Given the description of an element on the screen output the (x, y) to click on. 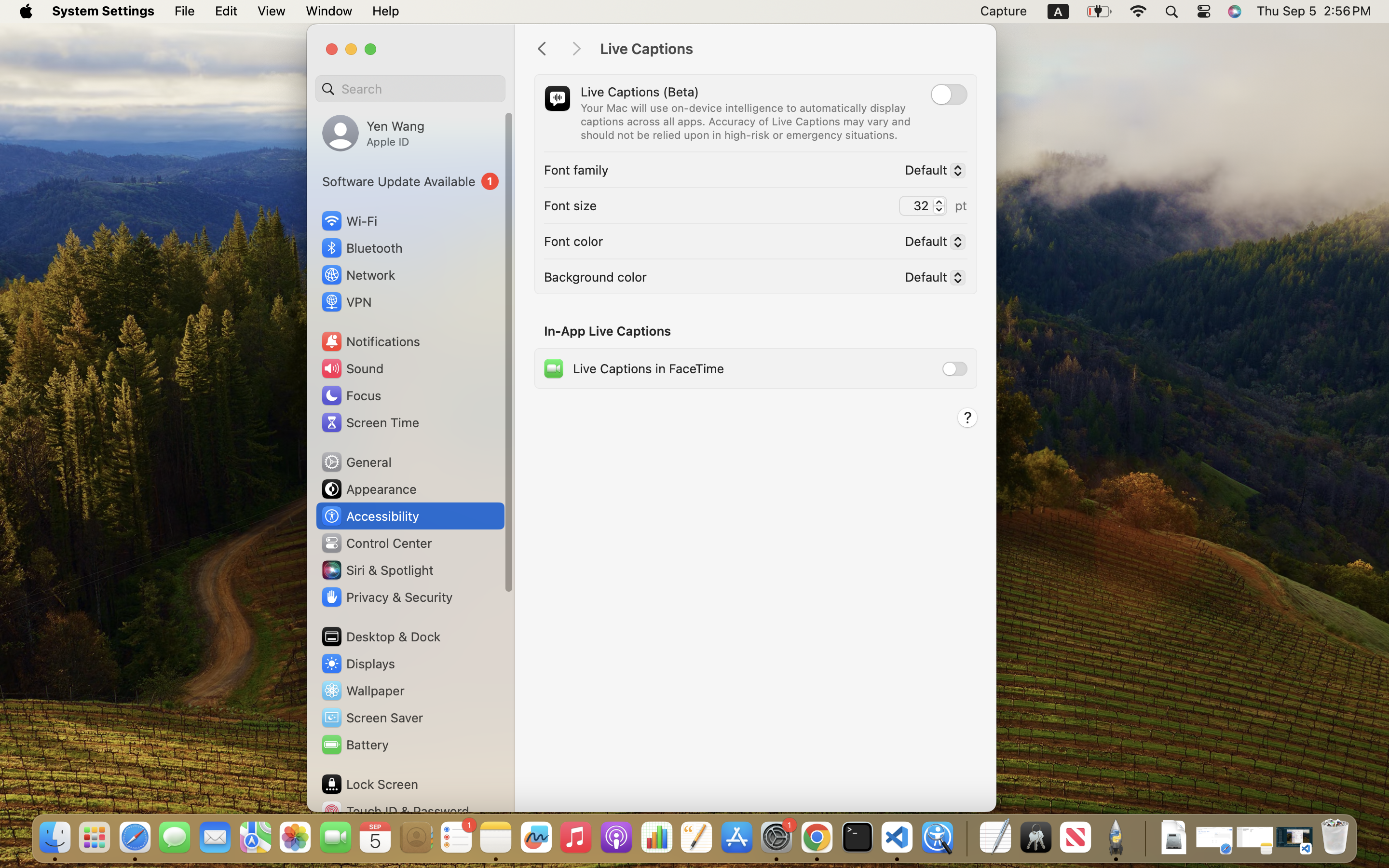
Live Captions (Beta) Element type: AXStaticText (639, 91)
Notifications Element type: AXStaticText (370, 340)
Font color Element type: AXStaticText (573, 240)
pt Element type: AXStaticText (960, 205)
Lock Screen Element type: AXStaticText (369, 783)
